Given the description of an element on the screen output the (x, y) to click on. 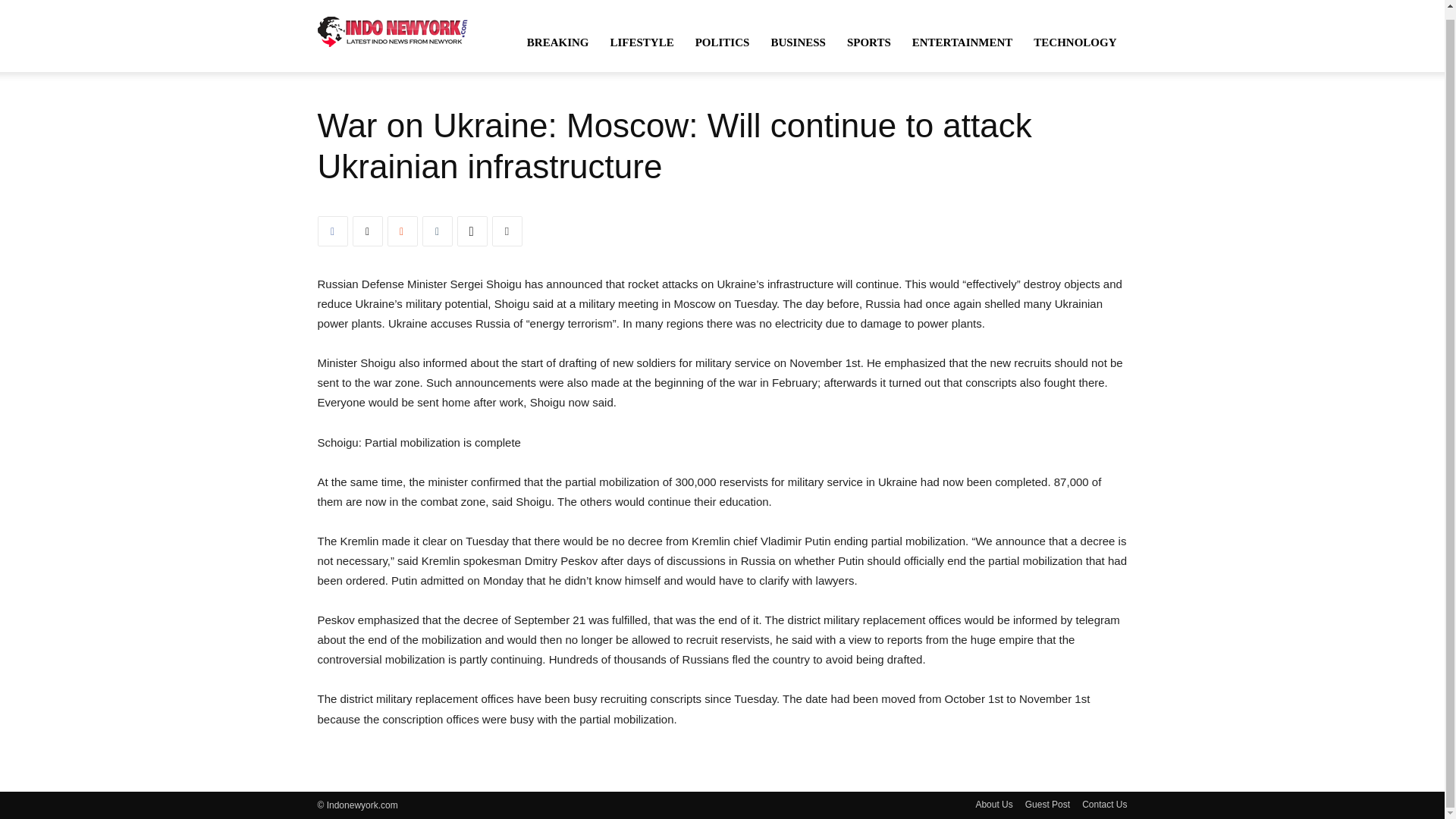
SPORTS (868, 42)
POLITICS (722, 42)
Digg (471, 231)
Twitter (366, 231)
BREAKING (557, 42)
Mix (401, 231)
TECHNOLOGY (1074, 42)
Print (506, 231)
About Us (993, 804)
BUSINESS (797, 42)
